Given the description of an element on the screen output the (x, y) to click on. 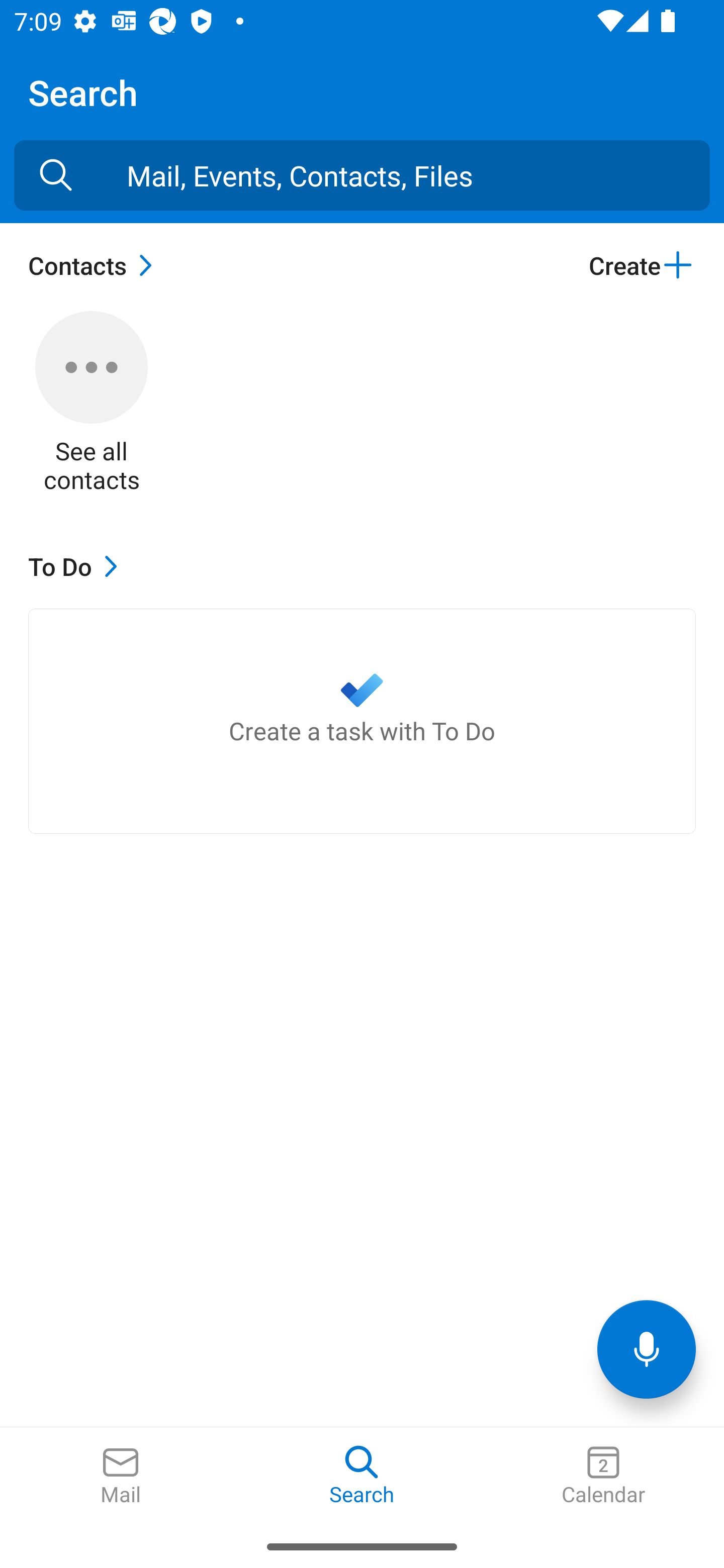
Search Mail, Events, Contacts, Files (55, 174)
Contacts (95, 264)
Create Create contact (641, 264)
See all contacts (91, 402)
To Do (77, 565)
Create a task with To Do (361, 721)
Voice Assistant (646, 1348)
Mail (120, 1475)
Calendar (603, 1475)
